Given the description of an element on the screen output the (x, y) to click on. 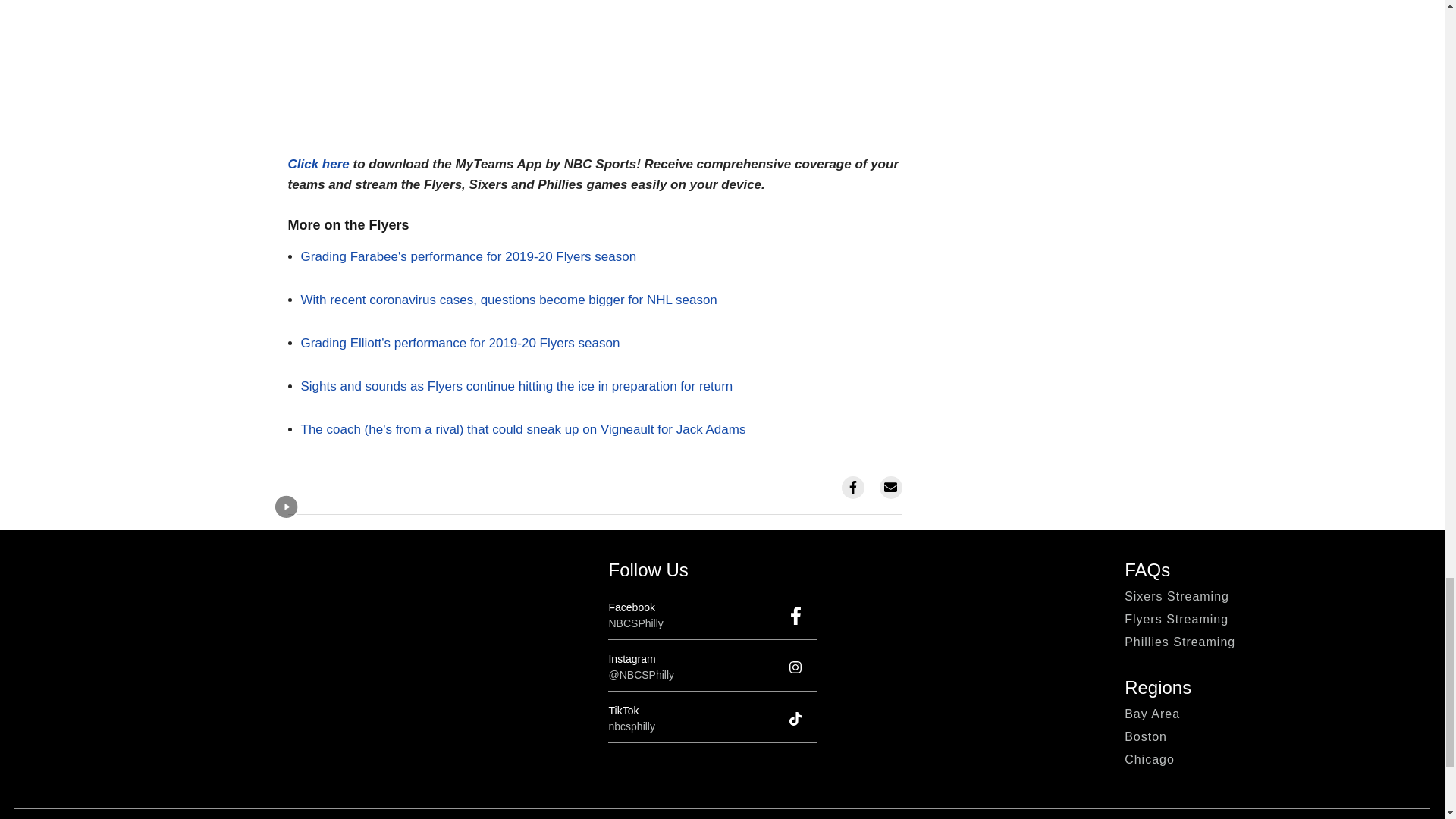
Grading Farabee's performance for 2019-20 Flyers season (467, 256)
Grading Elliott's performance for 2019-20 Flyers season (459, 342)
Click here (318, 164)
